Given the description of an element on the screen output the (x, y) to click on. 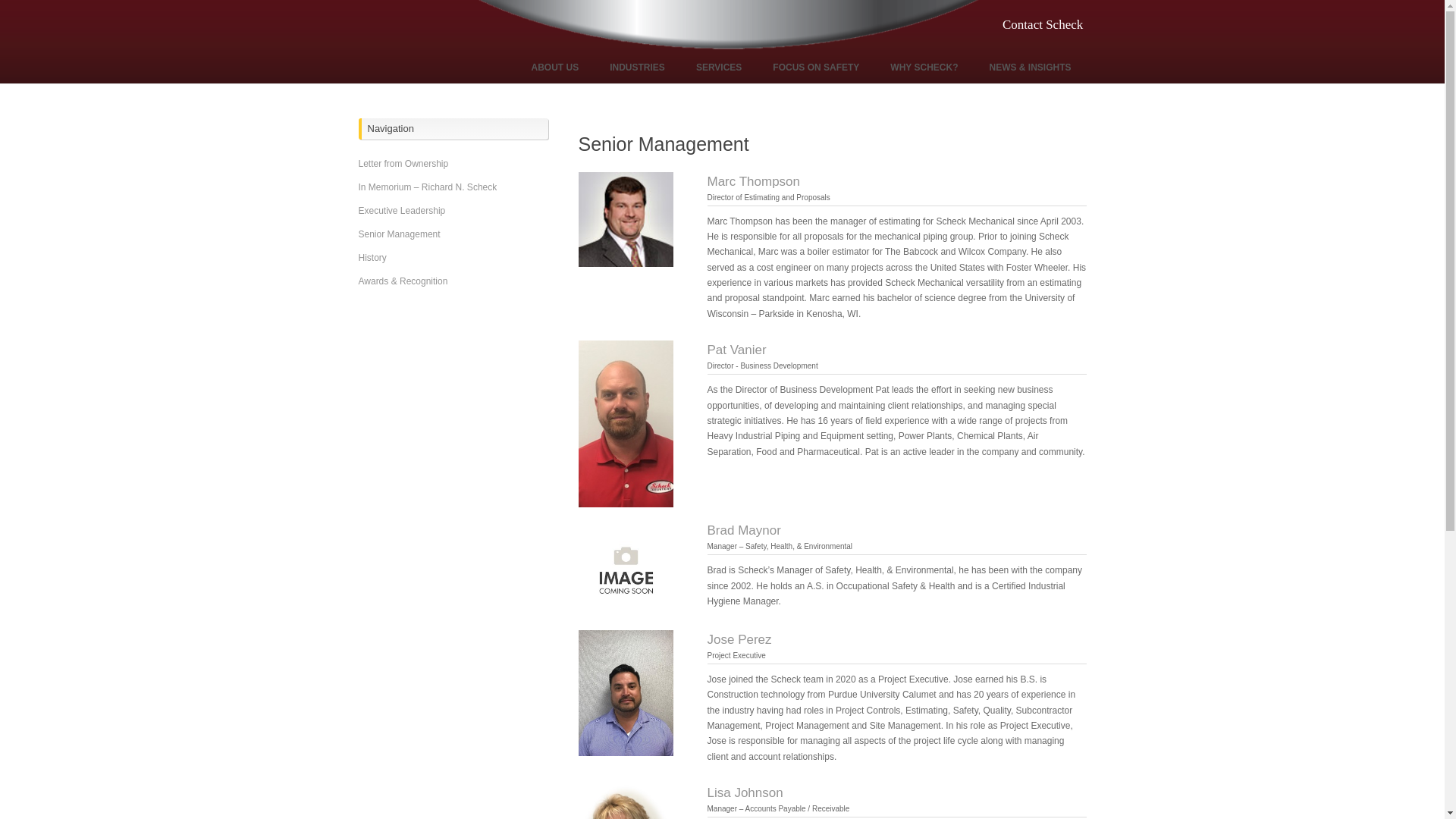
ABOUT US (555, 67)
FOCUS ON SAFETY (816, 67)
WHY SCHECK? (923, 67)
Contact Scheck  (1044, 24)
SERVICES (719, 67)
INDUSTRIES (636, 67)
